Given the description of an element on the screen output the (x, y) to click on. 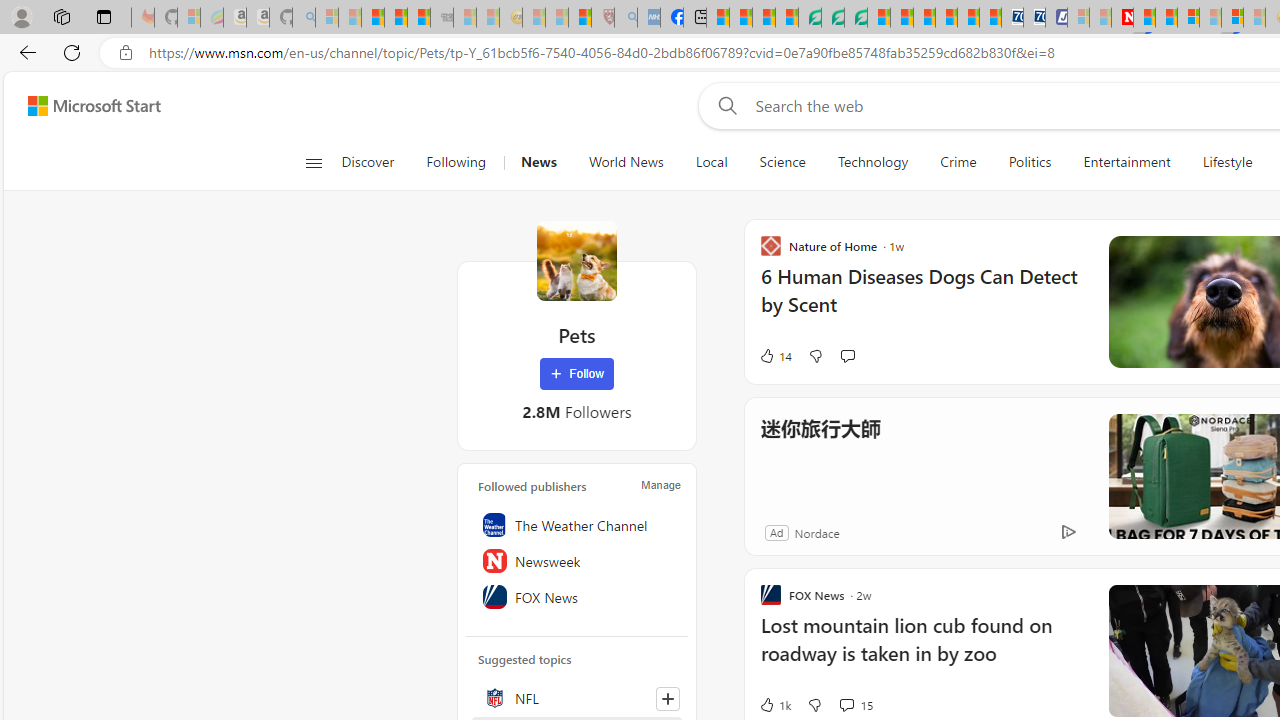
Following (456, 162)
MSNBC - MSN (717, 17)
FOX News (577, 597)
Skip to footer (82, 105)
Politics (1029, 162)
Refresh (72, 52)
Microsoft Start (94, 105)
Microsoft-Report a Concern to Bing - Sleeping (188, 17)
World - MSN (763, 17)
Ad (776, 532)
Microsoft account | Privacy - Sleeping (1078, 17)
News (538, 162)
